Given the description of an element on the screen output the (x, y) to click on. 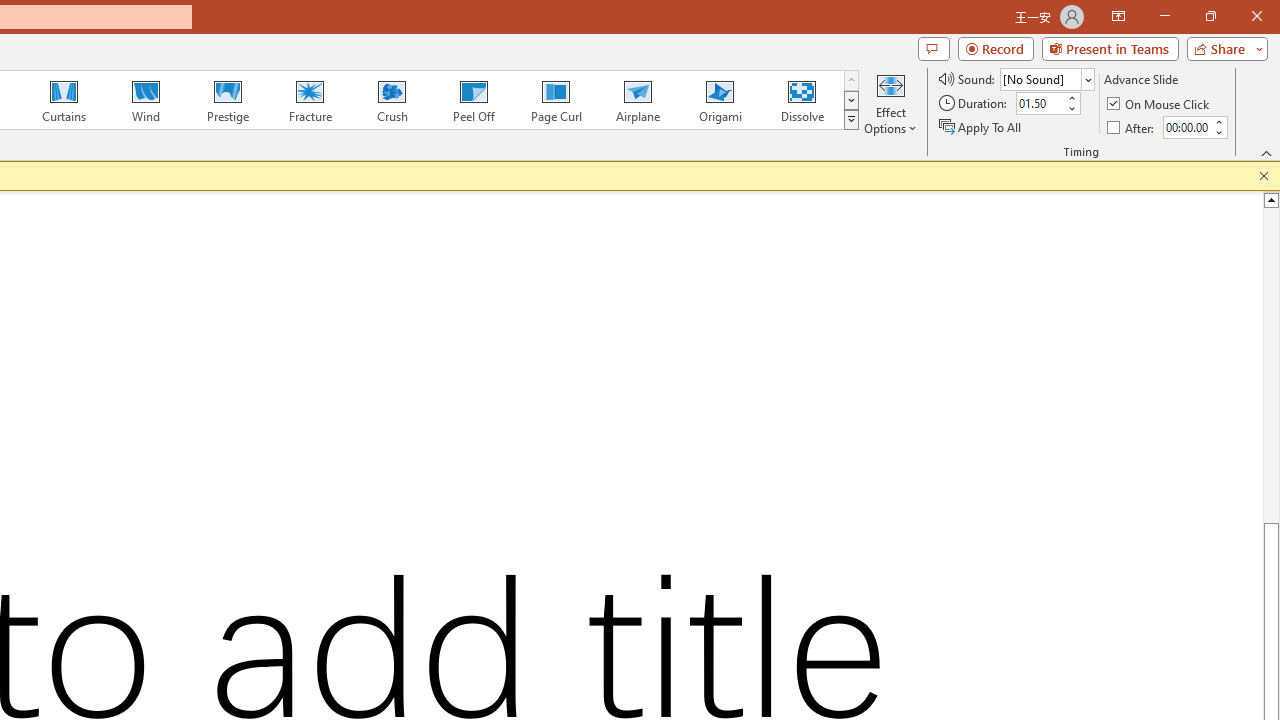
Apply To All (981, 126)
Prestige (227, 100)
Row up (850, 79)
Airplane (637, 100)
Origami (719, 100)
Curtains (63, 100)
Close this message (1263, 176)
Duration (1039, 103)
Open (1087, 79)
Peel Off (473, 100)
